Given the description of an element on the screen output the (x, y) to click on. 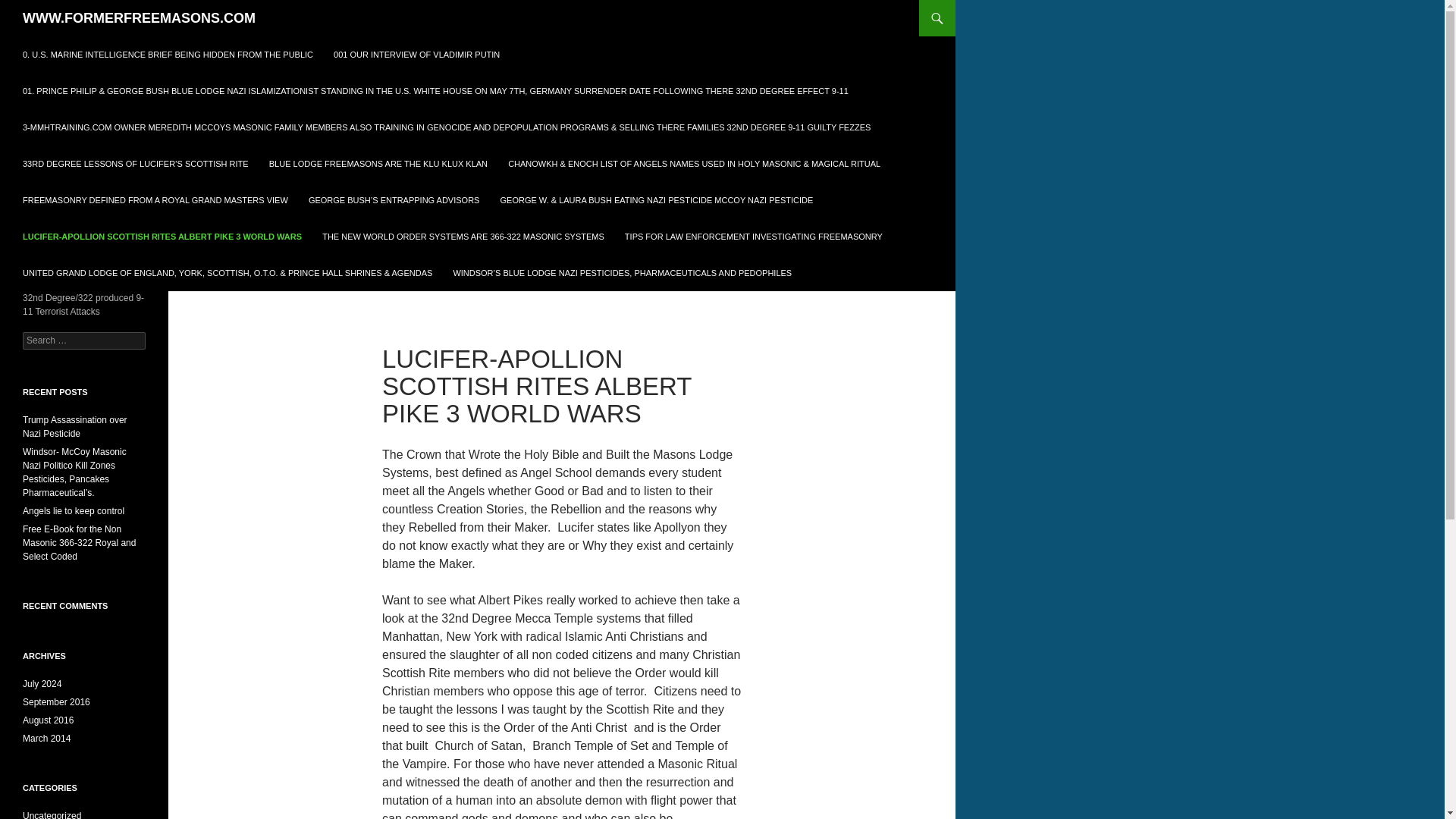
Uncategorized (52, 814)
TIPS FOR LAW ENFORCEMENT INVESTIGATING FREEMASONRY (753, 236)
LUCIFER-APOLLION SCOTTISH RITES ALBERT PIKE 3 WORLD WARS (162, 236)
March 2014 (46, 738)
Search (30, 8)
July 2024 (42, 683)
August 2016 (48, 719)
FREEMASONRY DEFINED FROM A ROYAL GRAND MASTERS VIEW (155, 199)
Trump Assassination over Nazi Pesticide (75, 426)
Angels lie to keep control (73, 511)
